Given the description of an element on the screen output the (x, y) to click on. 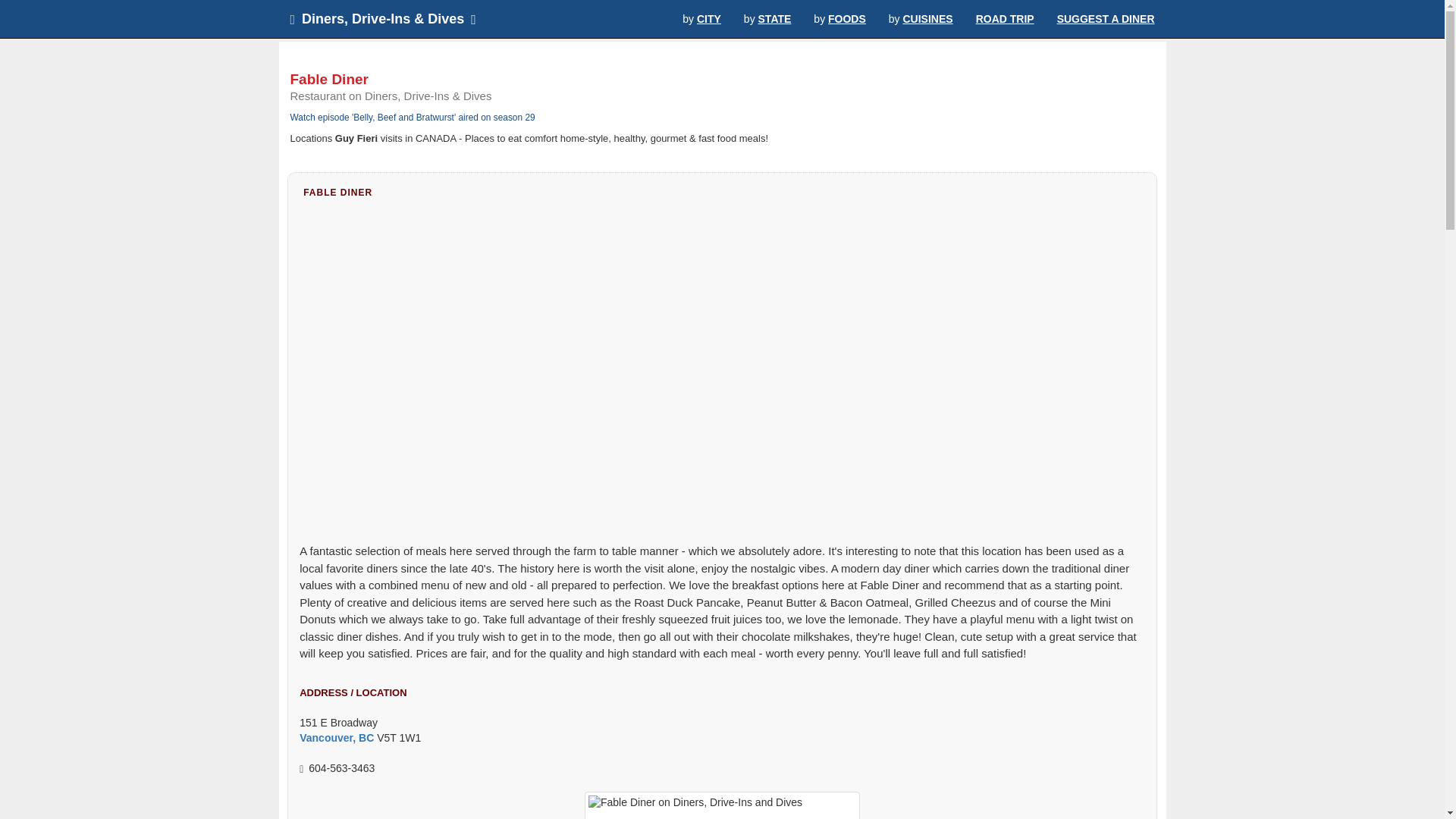
ROAD TRIP (1004, 18)
SUGGEST A DINER (1105, 18)
by CUISINES (920, 18)
Vancouver, BC (336, 737)
by STATE (767, 18)
by FOODS (839, 18)
by CITY (701, 18)
